Given the description of an element on the screen output the (x, y) to click on. 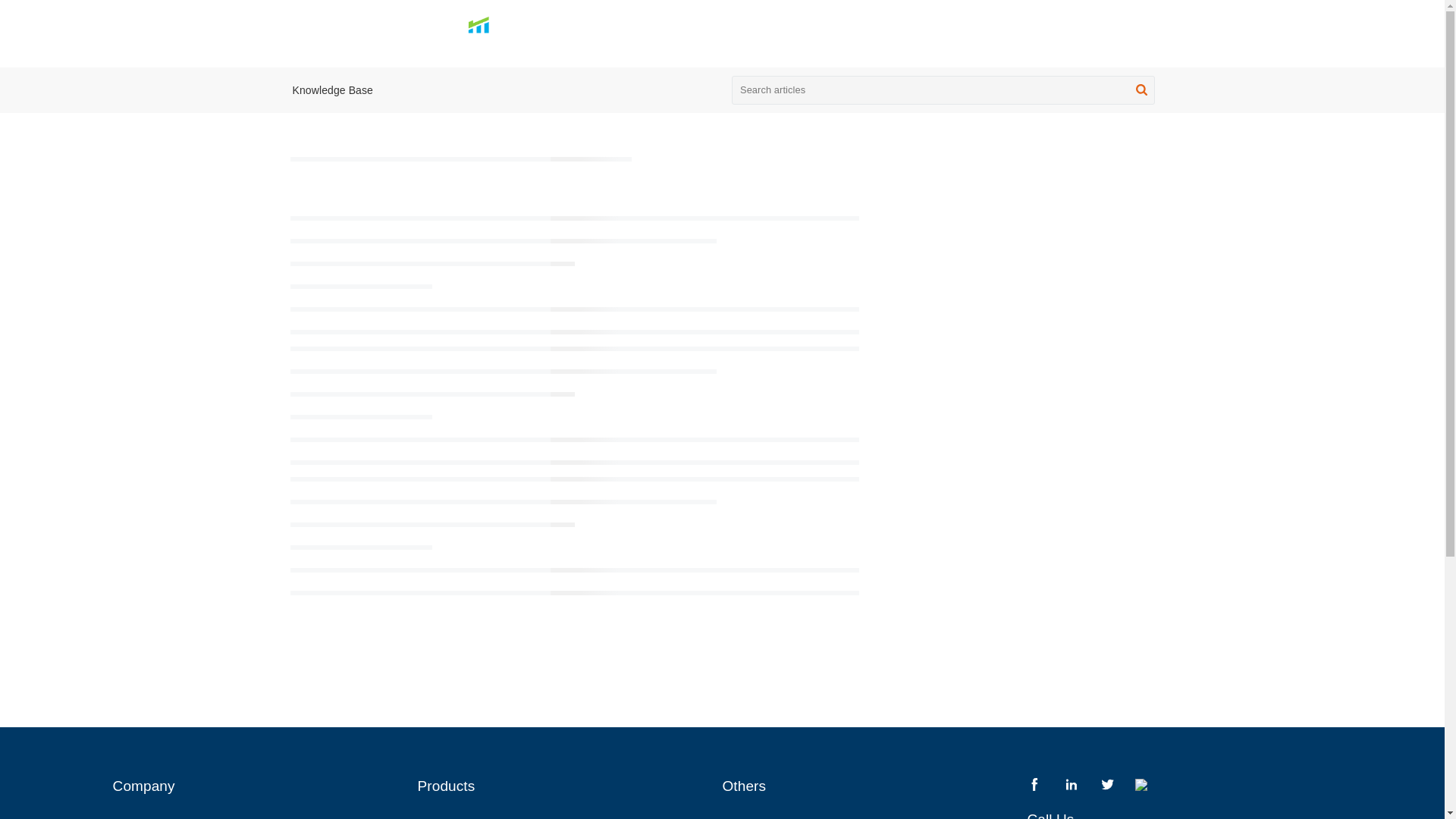
Knowledge Base (332, 90)
HOME (735, 32)
KNOWLEDGE CENTER (836, 32)
English (1128, 32)
Search (1141, 92)
CREATE A TICKET (989, 32)
